Given the description of an element on the screen output the (x, y) to click on. 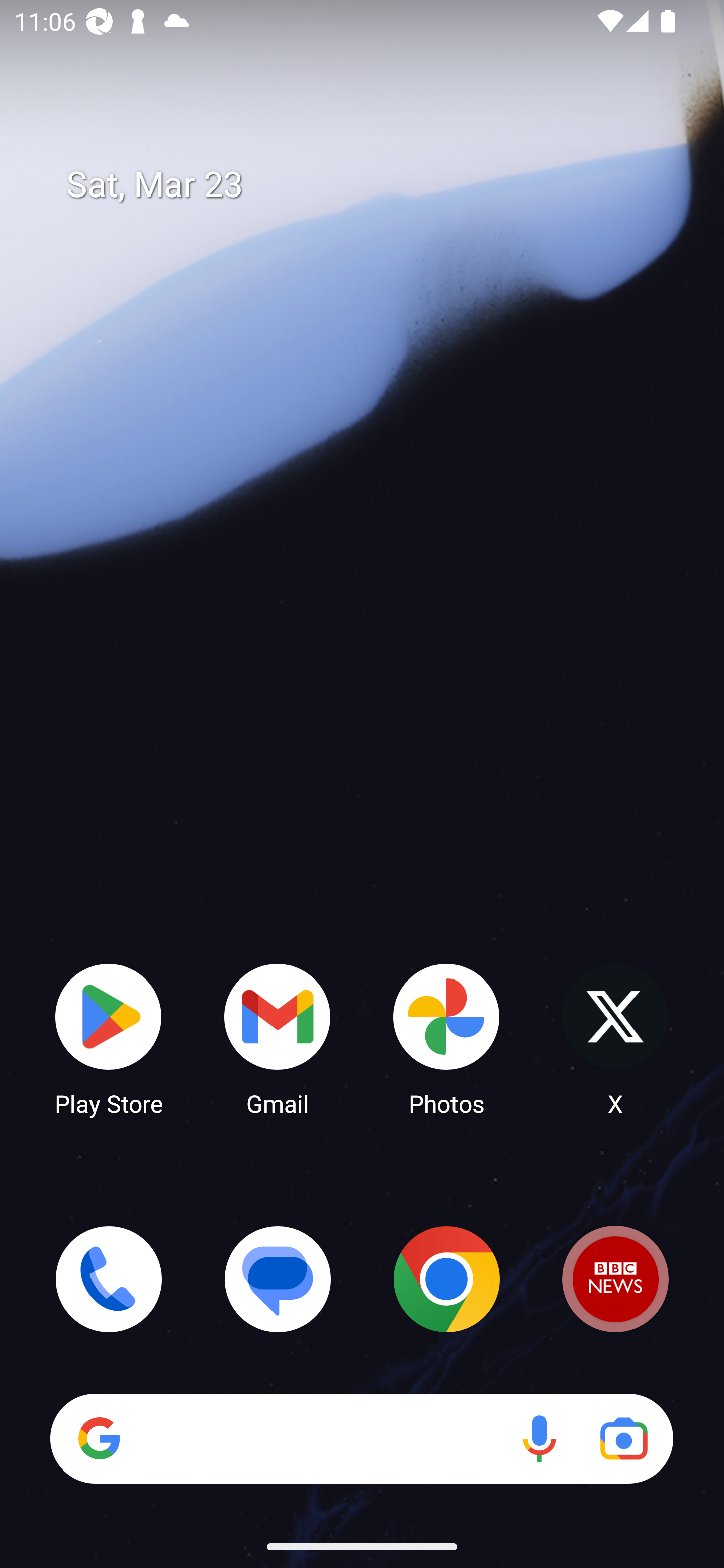
Sat, Mar 23 (375, 184)
Play Store (108, 1038)
Gmail (277, 1038)
Photos (445, 1038)
X (615, 1038)
Phone (108, 1279)
Messages (277, 1279)
Chrome (446, 1279)
BBC News Predicted app: BBC News (615, 1279)
Voice search (539, 1438)
Google Lens (623, 1438)
